Given the description of an element on the screen output the (x, y) to click on. 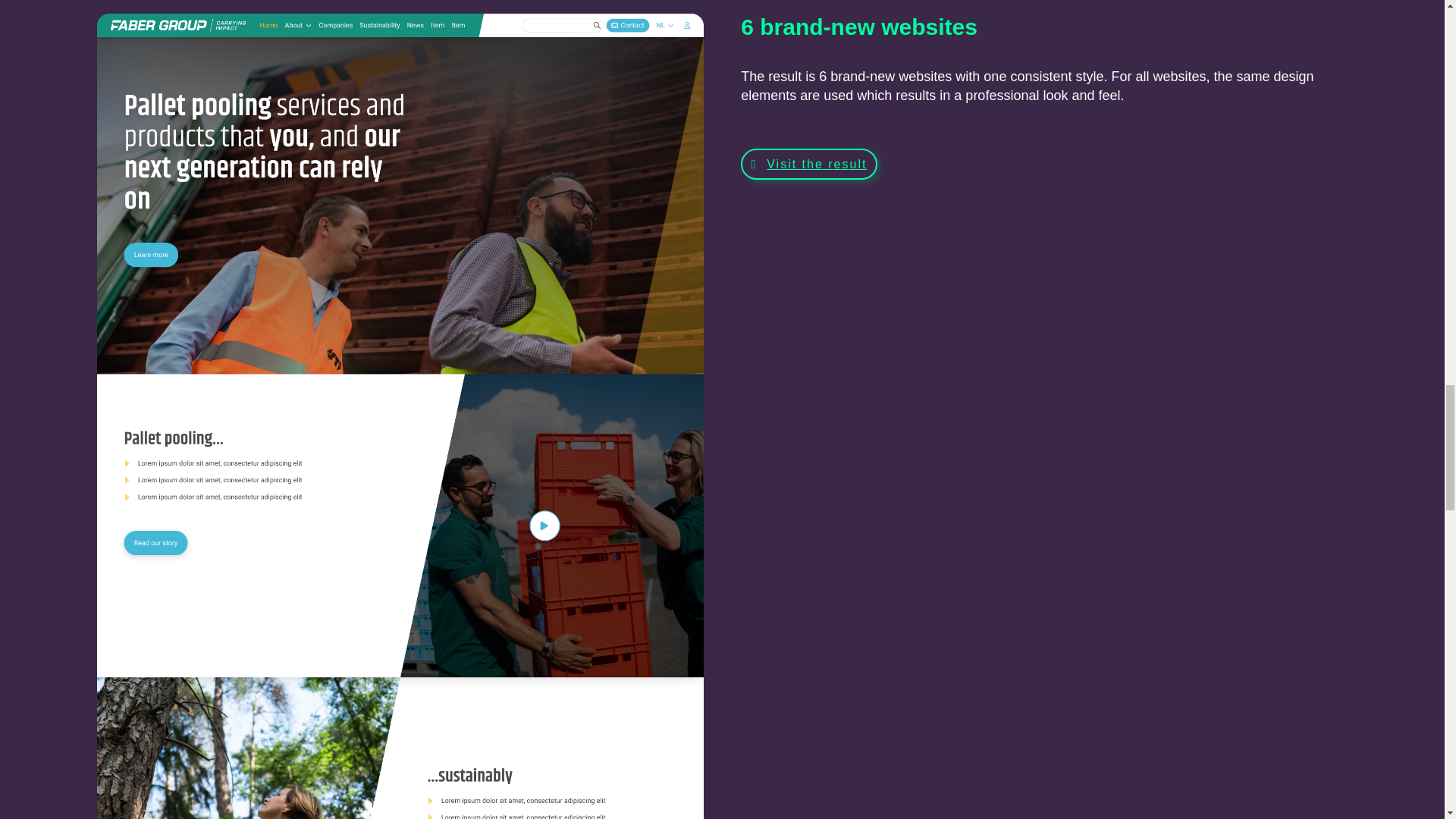
Visit the result (808, 163)
